Given the description of an element on the screen output the (x, y) to click on. 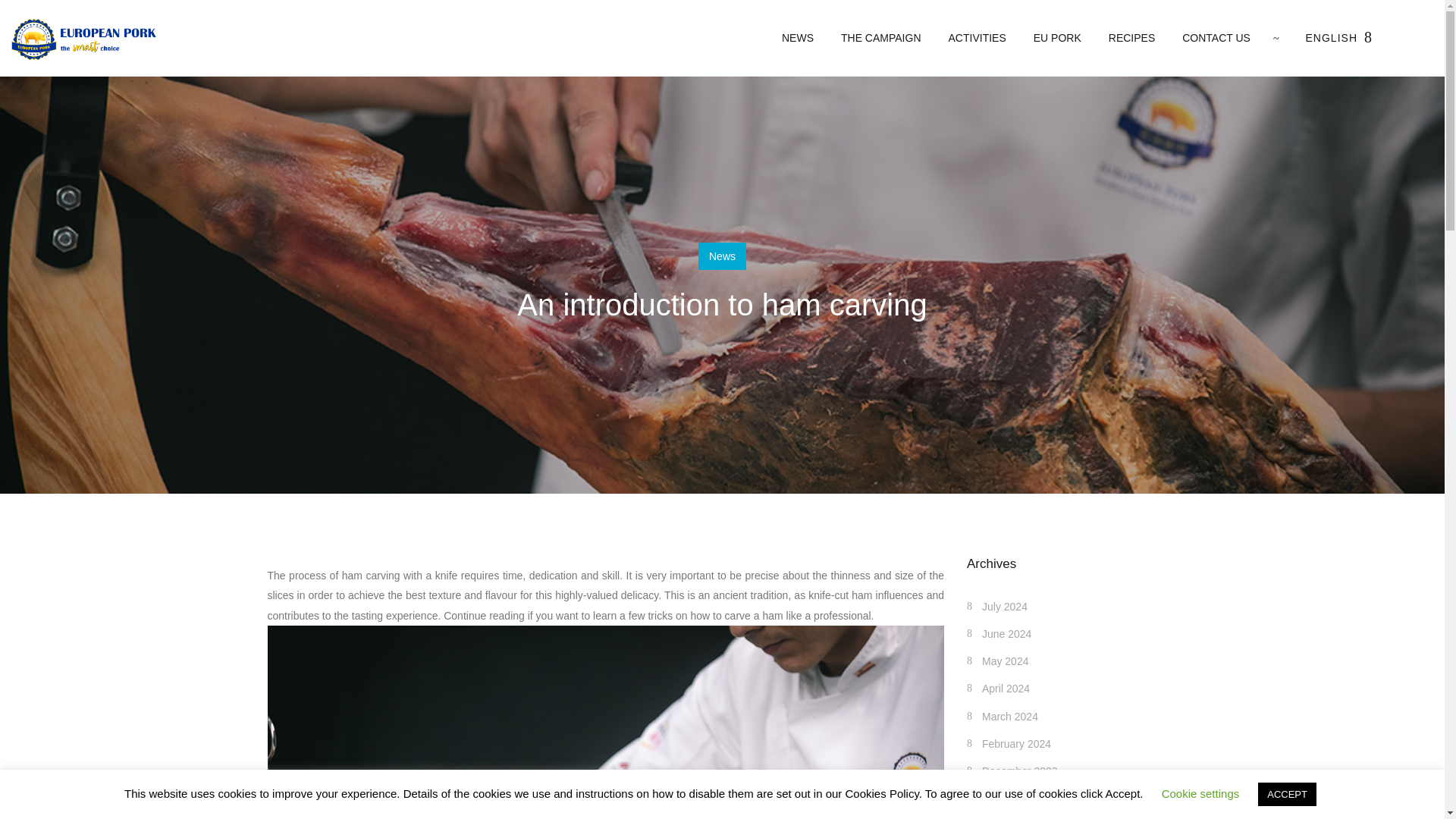
CONTACT US (1209, 38)
THE CAMPAIGN (880, 38)
ACTIVITIES (977, 38)
EU PORK (1057, 38)
News (721, 256)
RECIPES (1131, 38)
ENGLISH (1331, 37)
